Given the description of an element on the screen output the (x, y) to click on. 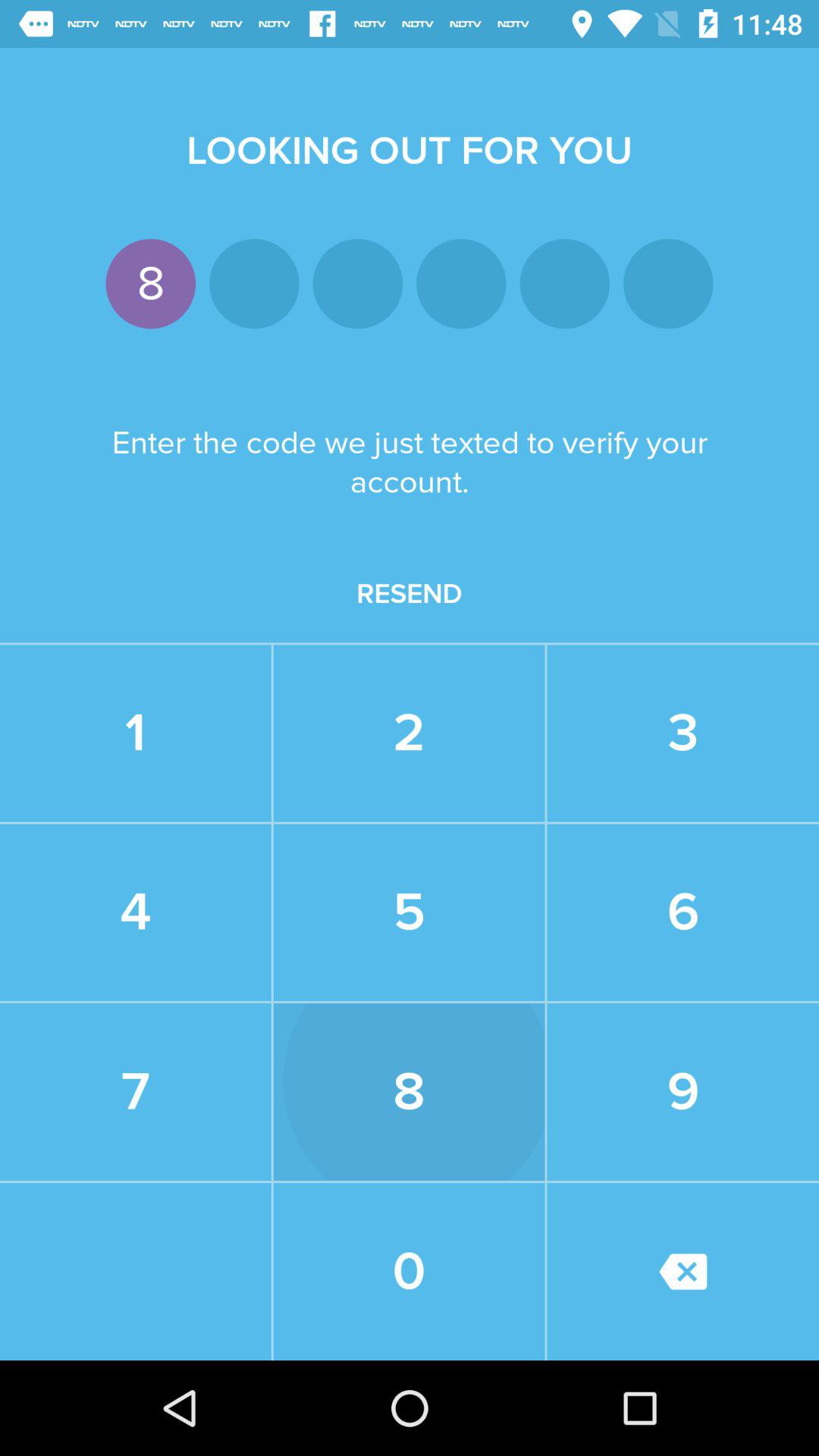
choose the 9 (683, 1091)
